Given the description of an element on the screen output the (x, y) to click on. 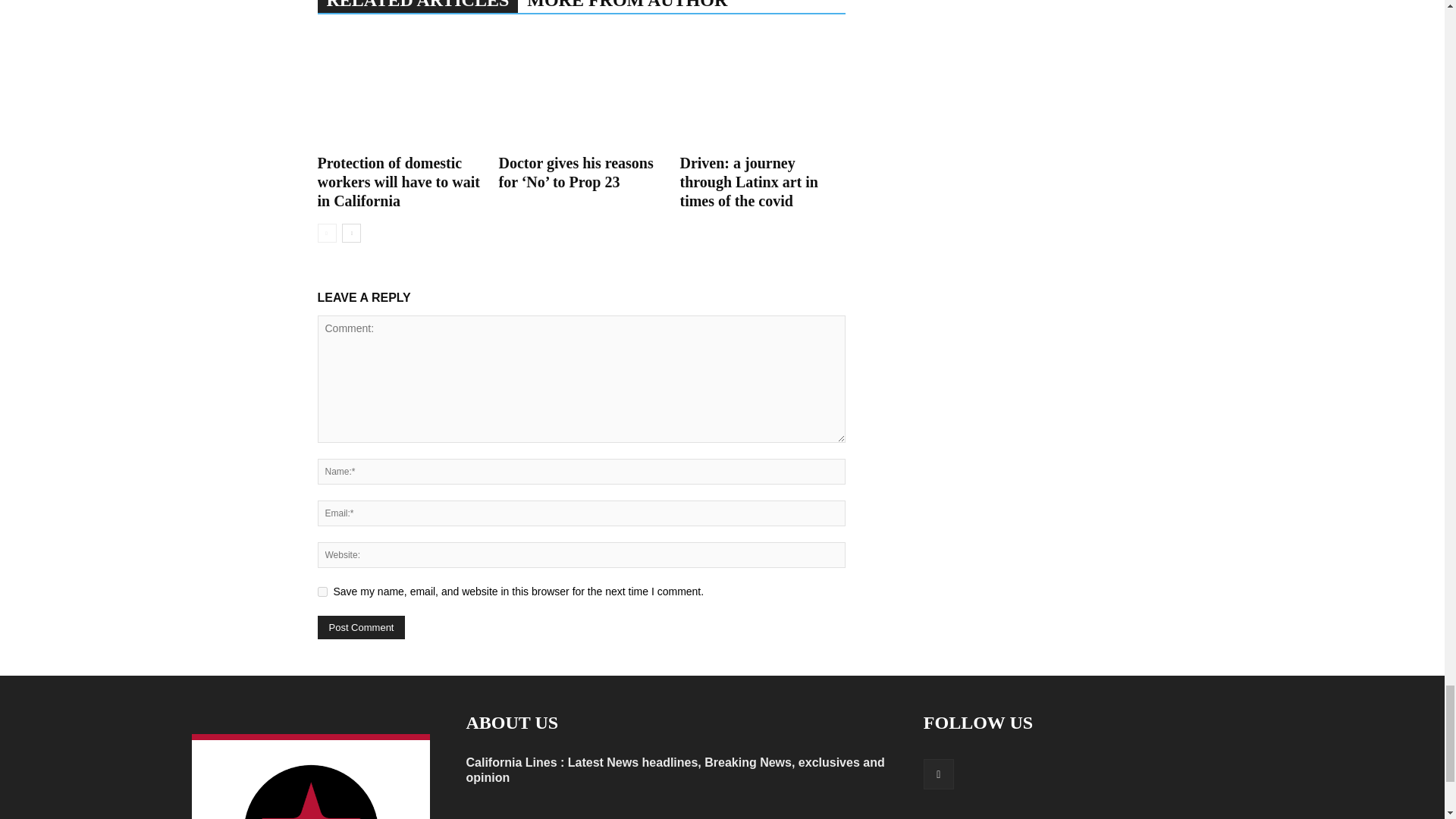
yes (321, 592)
Post Comment (360, 627)
